Given the description of an element on the screen output the (x, y) to click on. 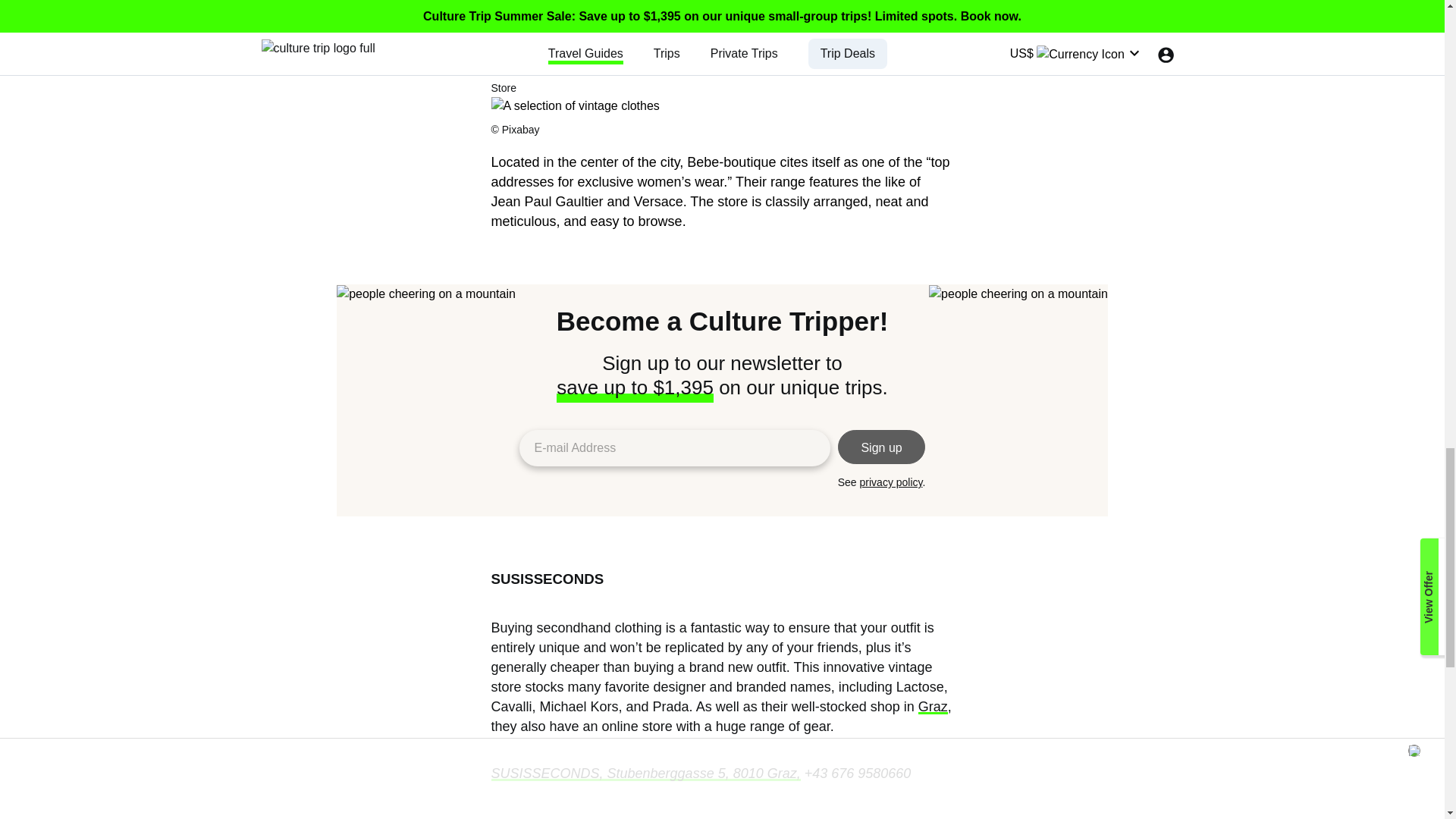
SUSISSECONDS, Stubenberggasse 5, 8010 Graz, (646, 773)
Graz (932, 706)
privacy policy (891, 481)
Sign up (882, 446)
